Given the description of an element on the screen output the (x, y) to click on. 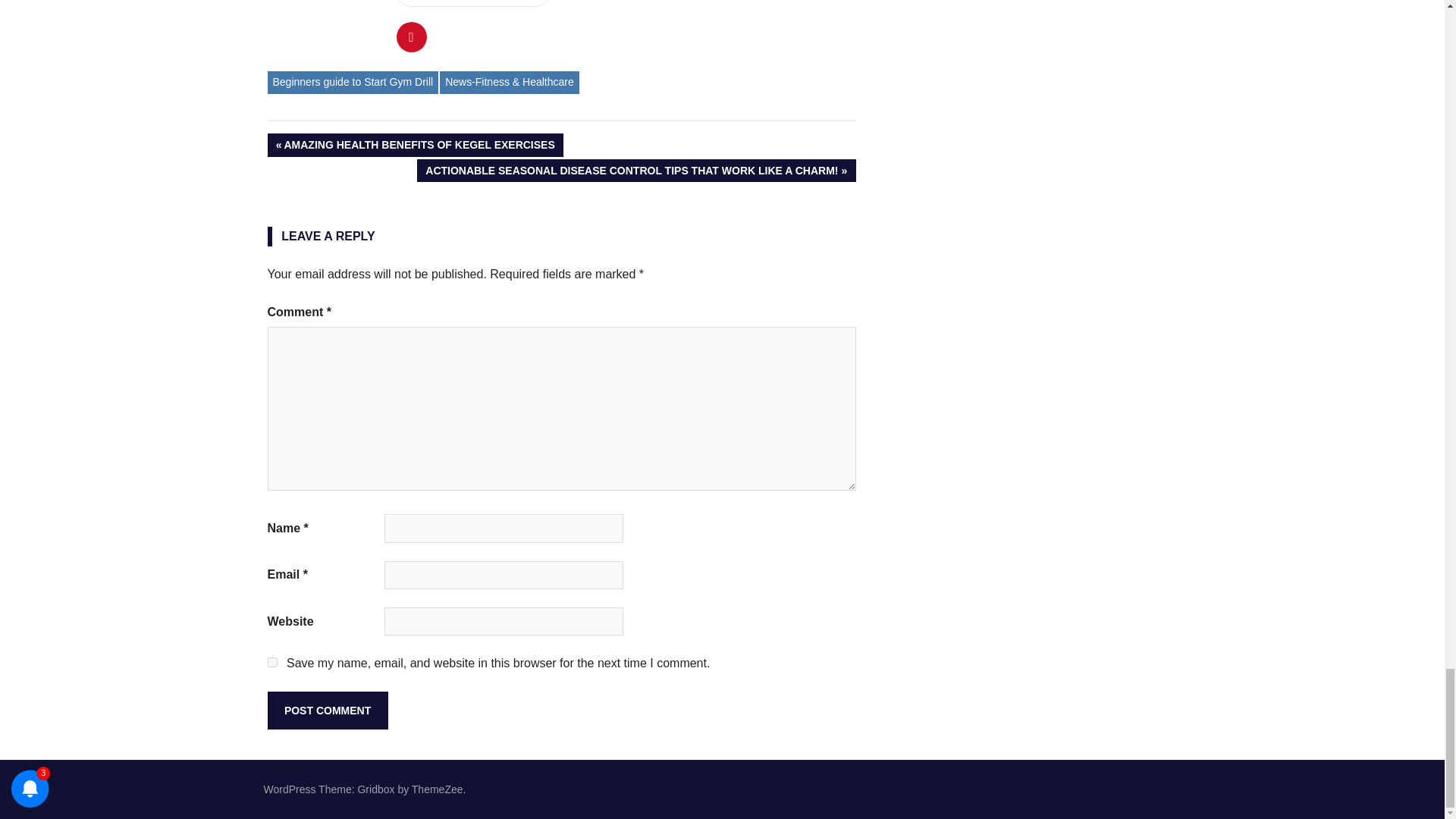
See author's posts (472, 3)
Post Comment (414, 145)
yes (326, 710)
Beginners guide to Start Gym Drill (271, 662)
Post Comment (352, 82)
